Given the description of an element on the screen output the (x, y) to click on. 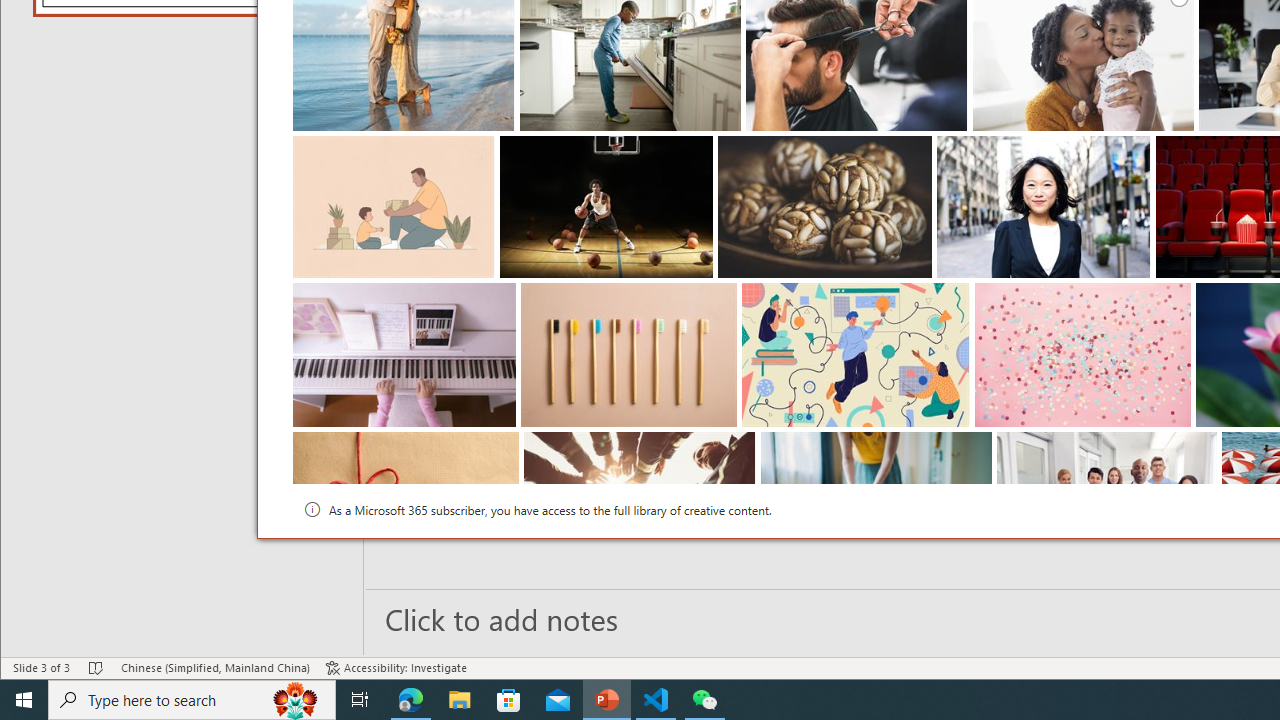
Thumbnail (1201, 447)
WeChat - 1 running window (704, 699)
